Given the description of an element on the screen output the (x, y) to click on. 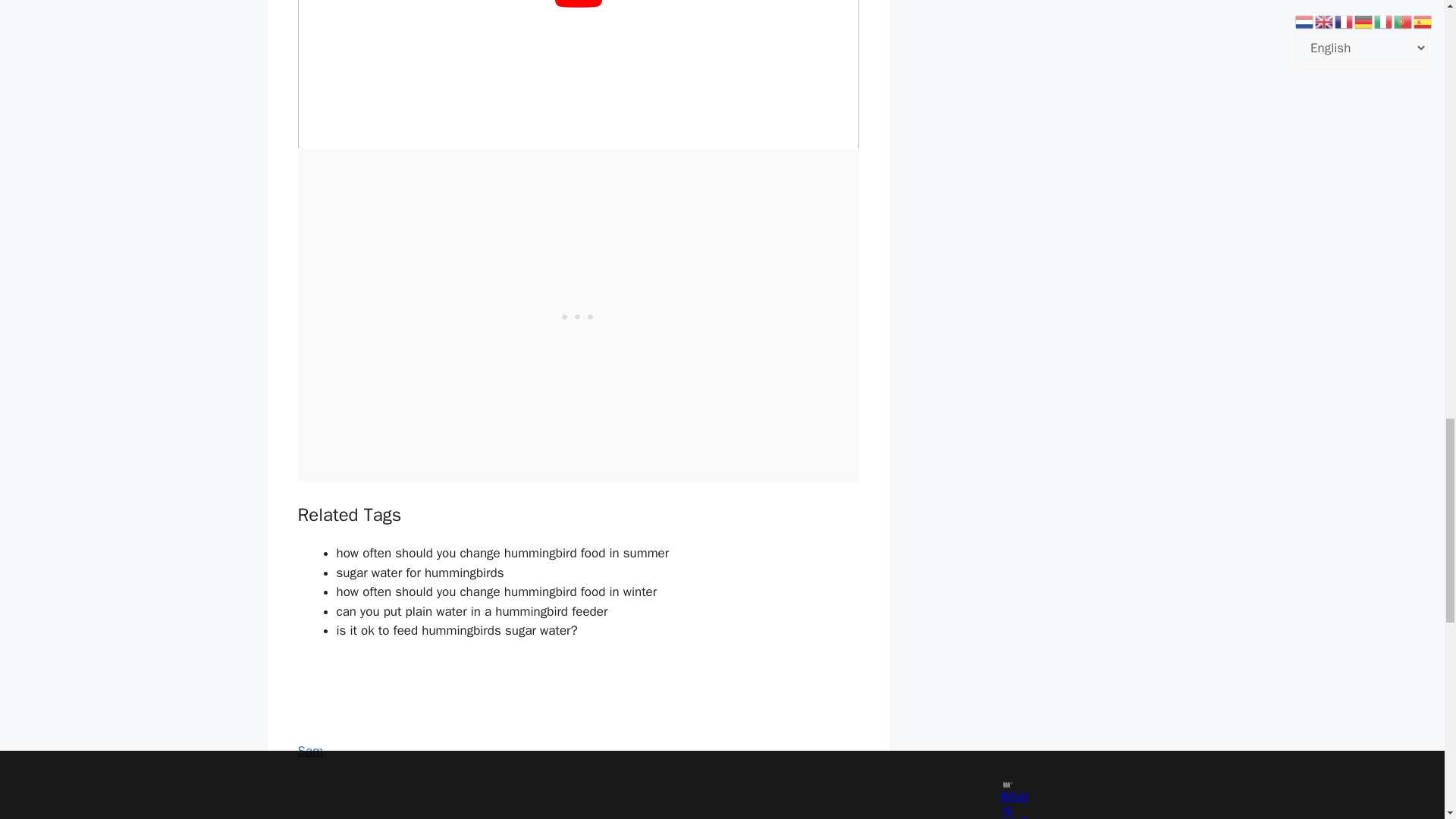
Sam (310, 750)
